Given the description of an element on the screen output the (x, y) to click on. 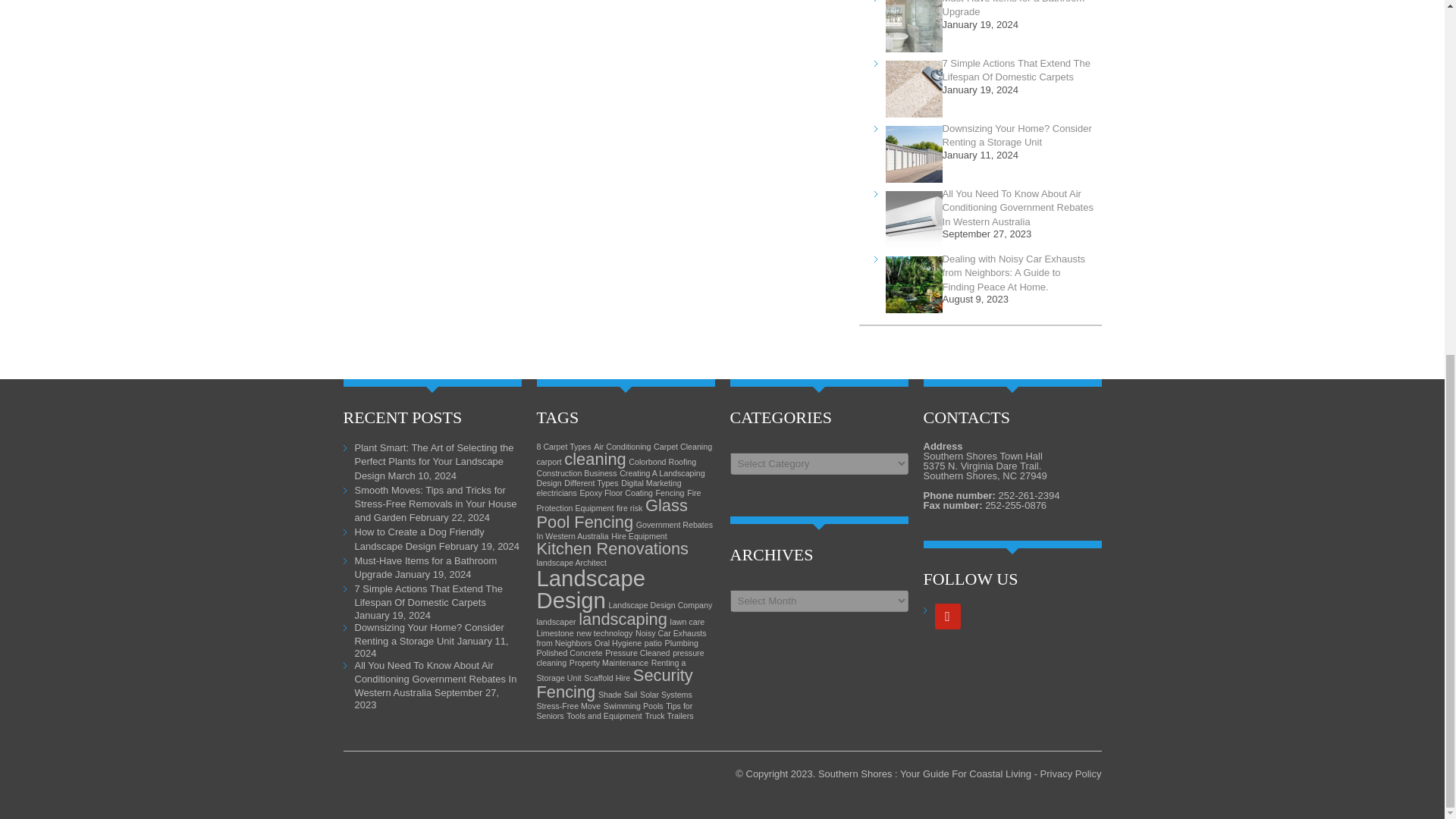
cleaning (595, 458)
Downsizing Your Home? Consider Renting a Storage Unit (429, 634)
Creating A Landscaping Design (620, 477)
Air Conditioning (622, 446)
carport (549, 461)
Must-Have Items for a Bathroom Upgrade (1013, 8)
Colorbond Roofing (661, 461)
Instagram (946, 615)
Downsizing Your Home? Consider Renting a Storage Unit (1017, 135)
Construction Business (577, 472)
8 Carpet Types (564, 446)
Carpet Cleaning (682, 446)
Different Types (590, 482)
